Given the description of an element on the screen output the (x, y) to click on. 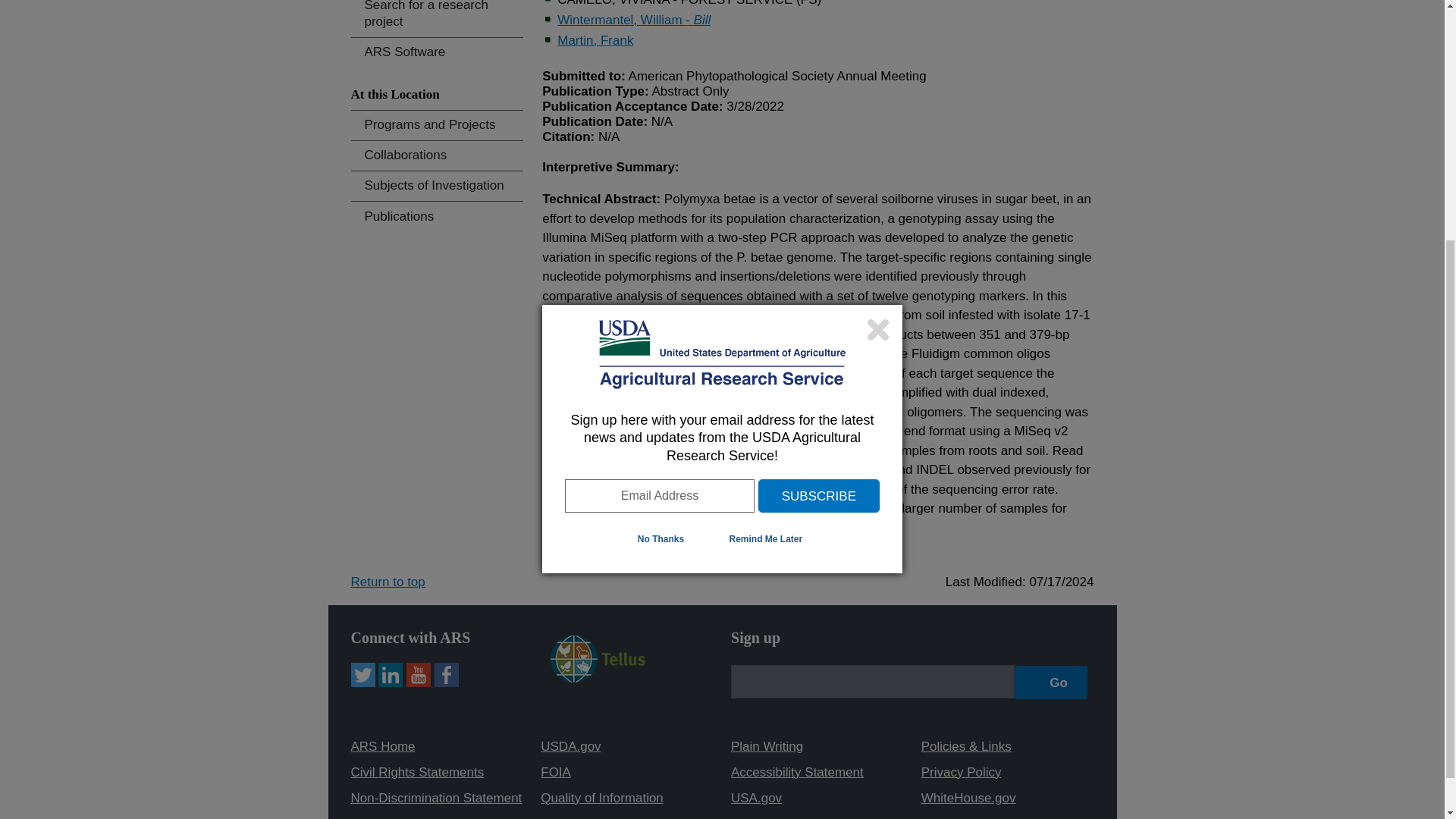
Subscribe (818, 145)
Facebook Icon (445, 674)
Tellus (597, 677)
Youtube (418, 674)
Collaborations (436, 155)
Programs and Projects (436, 125)
Publications (436, 215)
Subjects of Investigation (436, 185)
email (872, 681)
Email Address (659, 145)
LinkedIn (390, 674)
Twitter (362, 674)
Search for a research project (436, 18)
Go (1050, 682)
ARS Software (436, 52)
